Given the description of an element on the screen output the (x, y) to click on. 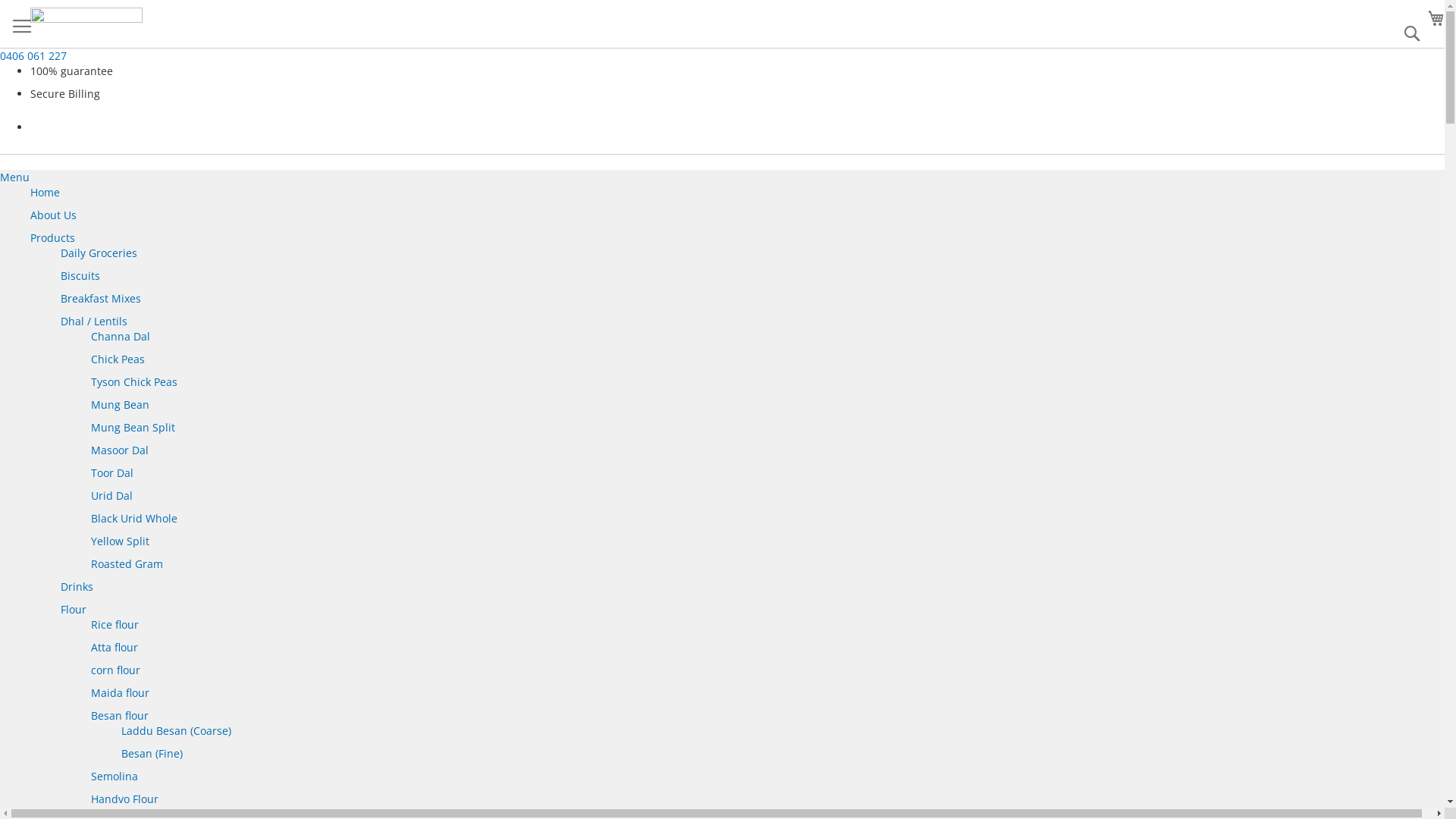
Dhal / Lentils Element type: text (93, 320)
Home Element type: text (44, 192)
Channa Dal Element type: text (120, 336)
Flour Element type: text (73, 609)
corn flour Element type: text (115, 669)
Rice flour Element type: text (114, 624)
Menu Element type: text (14, 176)
Laddu Besan (Coarse) Element type: text (176, 730)
Biscuits Element type: text (80, 275)
Products Element type: text (52, 237)
Besan (Fine) Element type: text (151, 753)
Breakfast Mixes Element type: text (100, 298)
Tyson Chick Peas Element type: text (134, 381)
Roasted Gram Element type: text (127, 563)
Yellow Split Element type: text (120, 540)
Besan flour Element type: text (119, 715)
Basket Element type: text (1435, 17)
0406 061 227 Element type: text (33, 55)
About Us Element type: text (53, 214)
Atta flour Element type: text (114, 647)
Chick Peas Element type: text (117, 358)
Drinks Element type: text (76, 586)
Masoor Dal Element type: text (119, 449)
Handvo Flour Element type: text (124, 798)
Daily Groceries Element type: text (98, 252)
Black Urid Whole Element type: text (134, 518)
Semolina Element type: text (114, 775)
Maida flour Element type: text (120, 692)
Toor Dal Element type: text (112, 472)
Mung Bean Element type: text (120, 404)
Mung Bean Split Element type: text (133, 427)
Urid Dal Element type: text (111, 495)
